Given the description of an element on the screen output the (x, y) to click on. 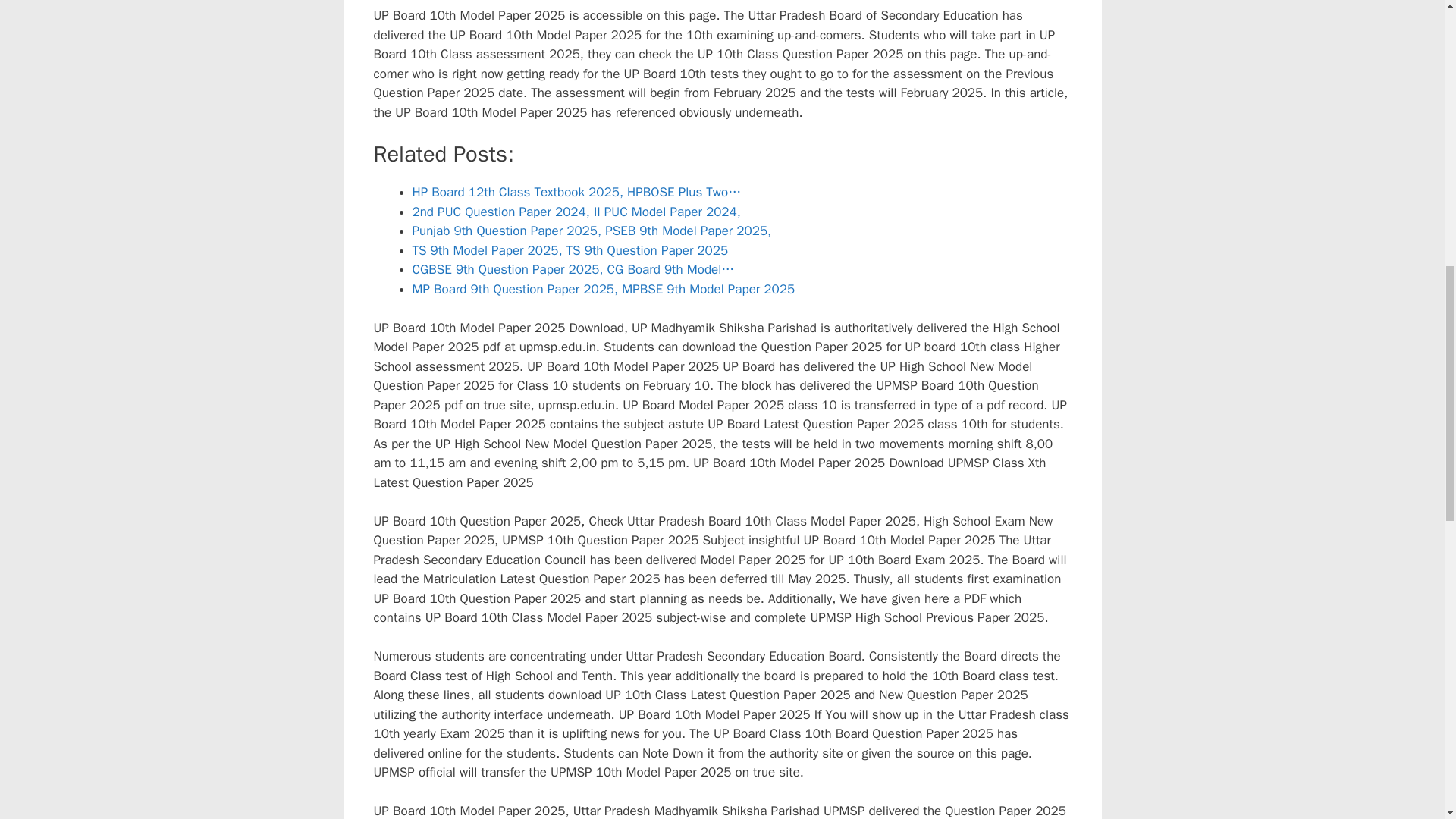
TS 9th Model Paper 2025, TS 9th Question Paper 2025 (570, 250)
MP Board 9th Question Paper 2025, MPBSE 9th Model Paper 2025 (603, 289)
2nd PUC Question Paper 2024, II PUC Model Paper 2024, (576, 211)
Punjab 9th Question Paper 2025, PSEB 9th Model Paper 2025, (591, 230)
